Given the description of an element on the screen output the (x, y) to click on. 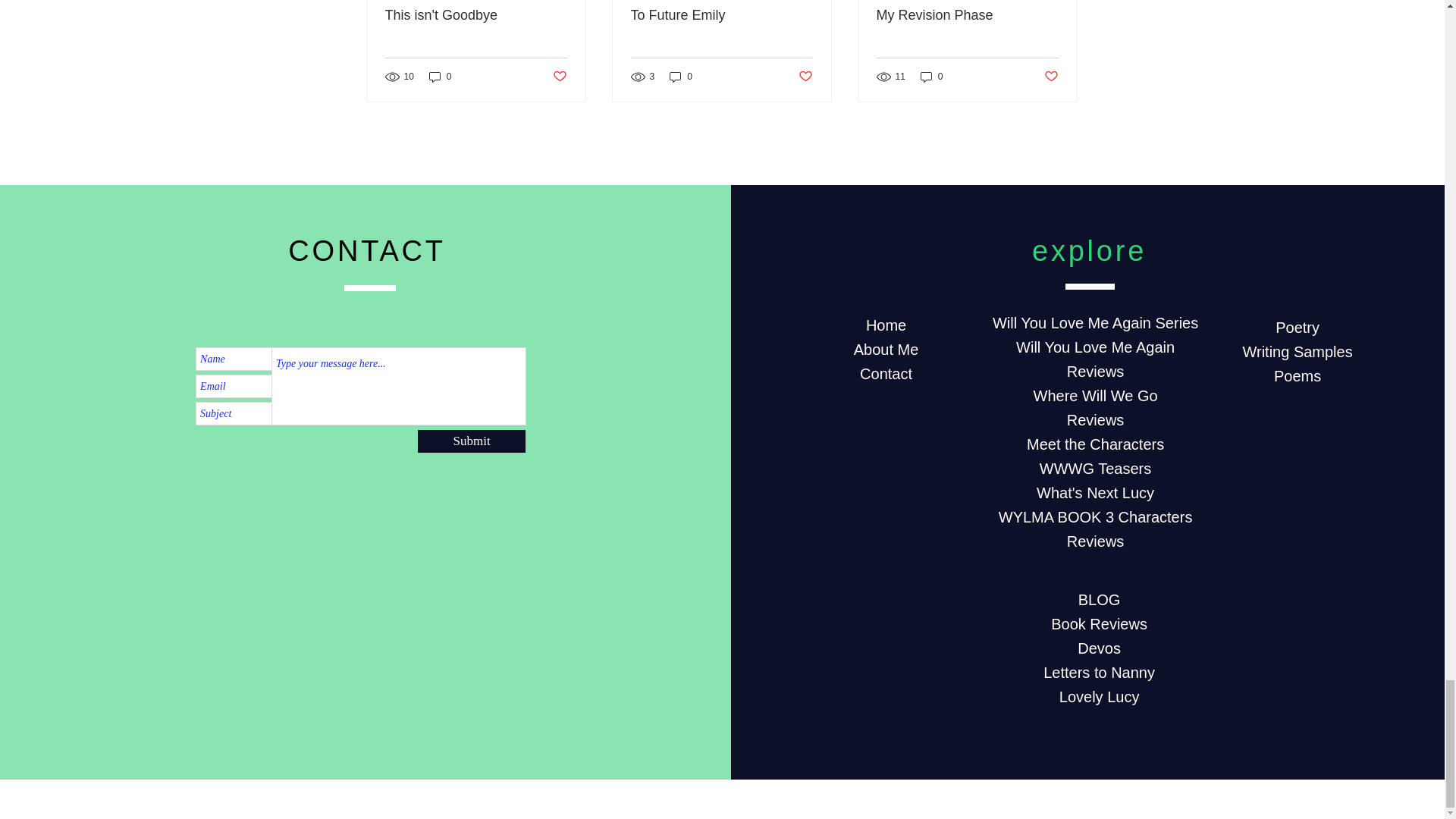
Post not marked as liked (804, 76)
0 (440, 76)
0 (681, 76)
Post not marked as liked (558, 76)
To Future Emily (721, 15)
This isn't Goodbye (476, 15)
